Given the description of an element on the screen output the (x, y) to click on. 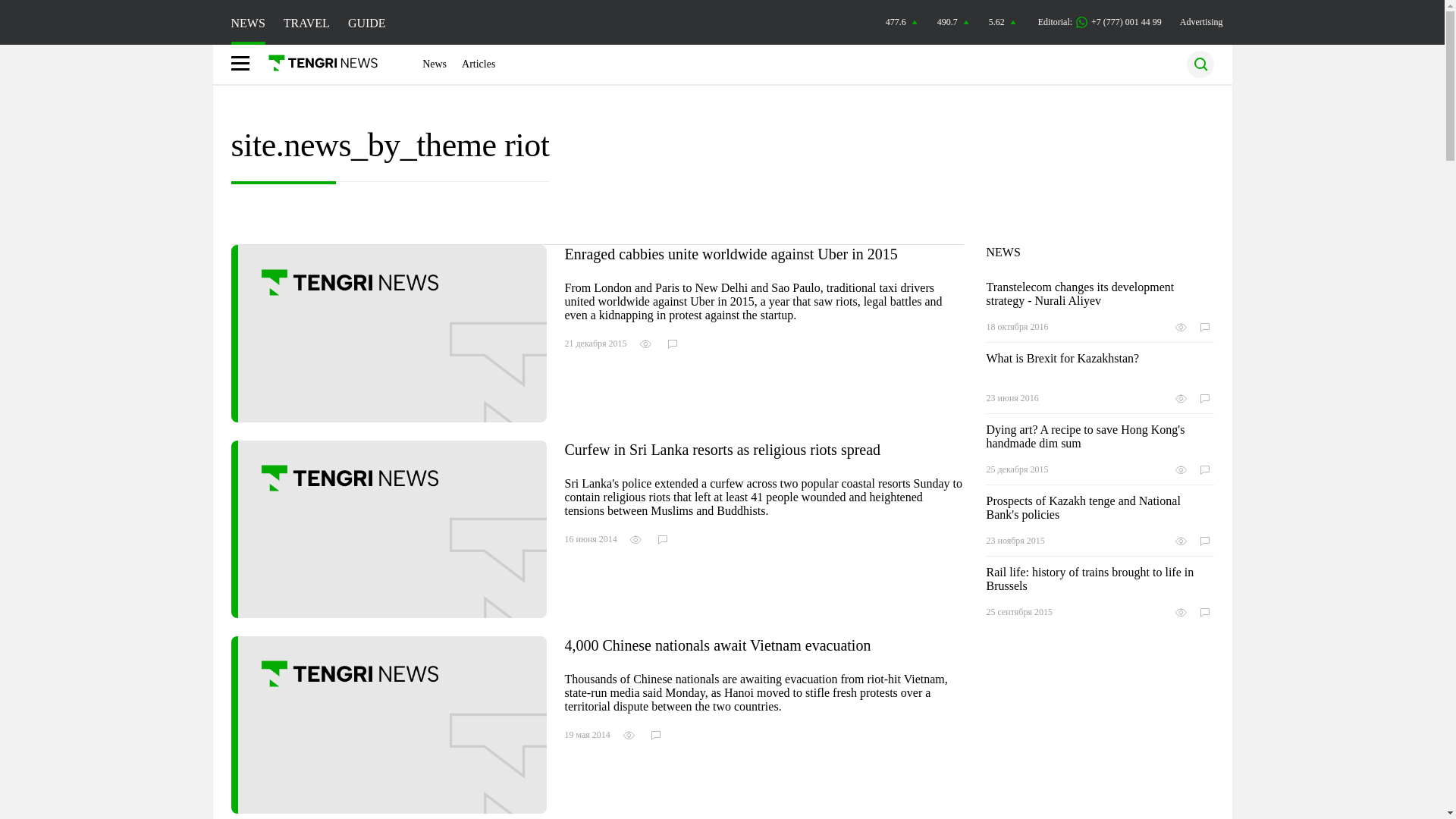
Articles (478, 64)
TRAVEL (306, 22)
News (434, 64)
Advertising (1201, 21)
